Given the description of an element on the screen output the (x, y) to click on. 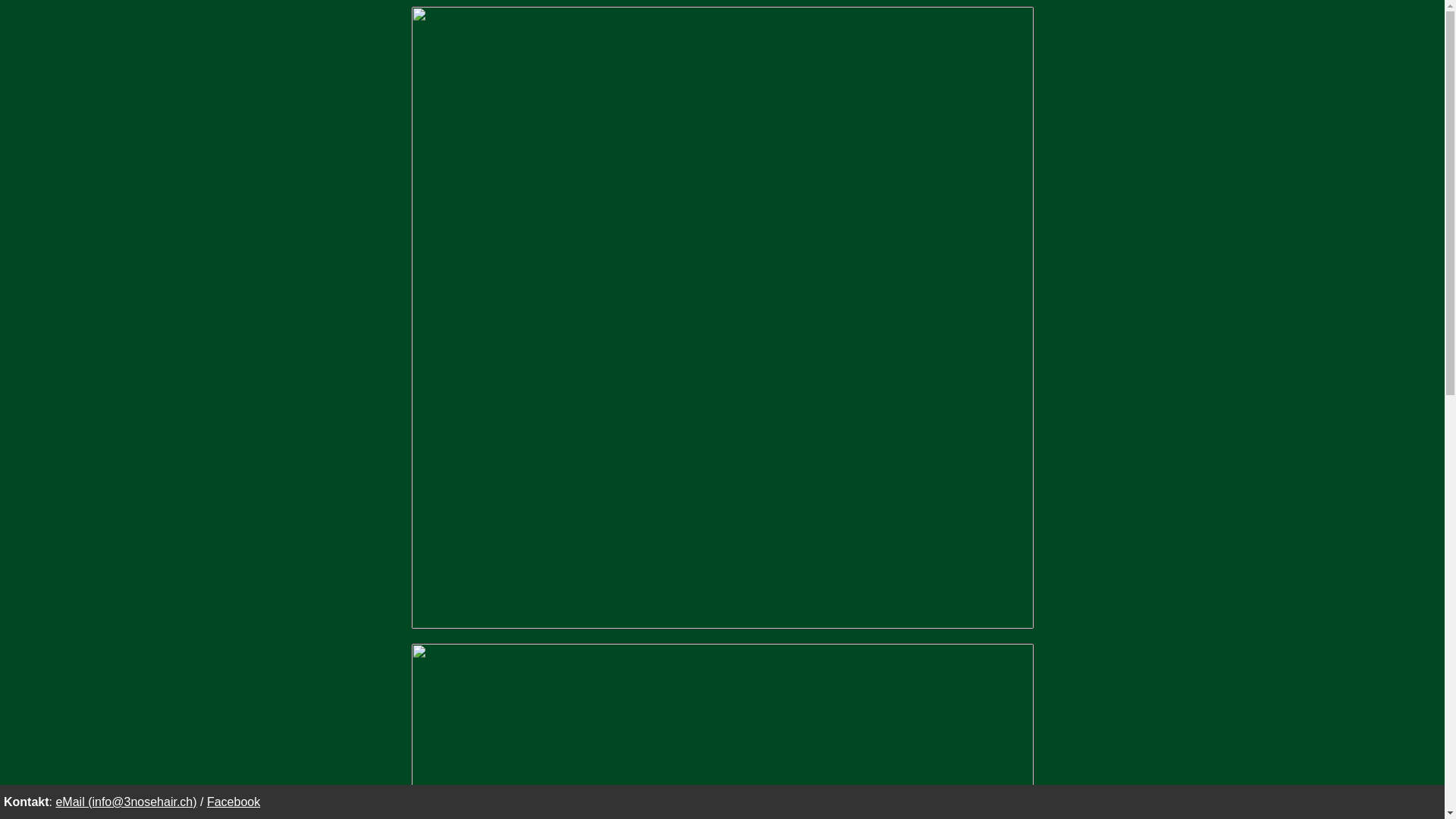
Facebook Element type: text (233, 801)
eMail (info@3nosehair.ch) Element type: text (125, 801)
